Given the description of an element on the screen output the (x, y) to click on. 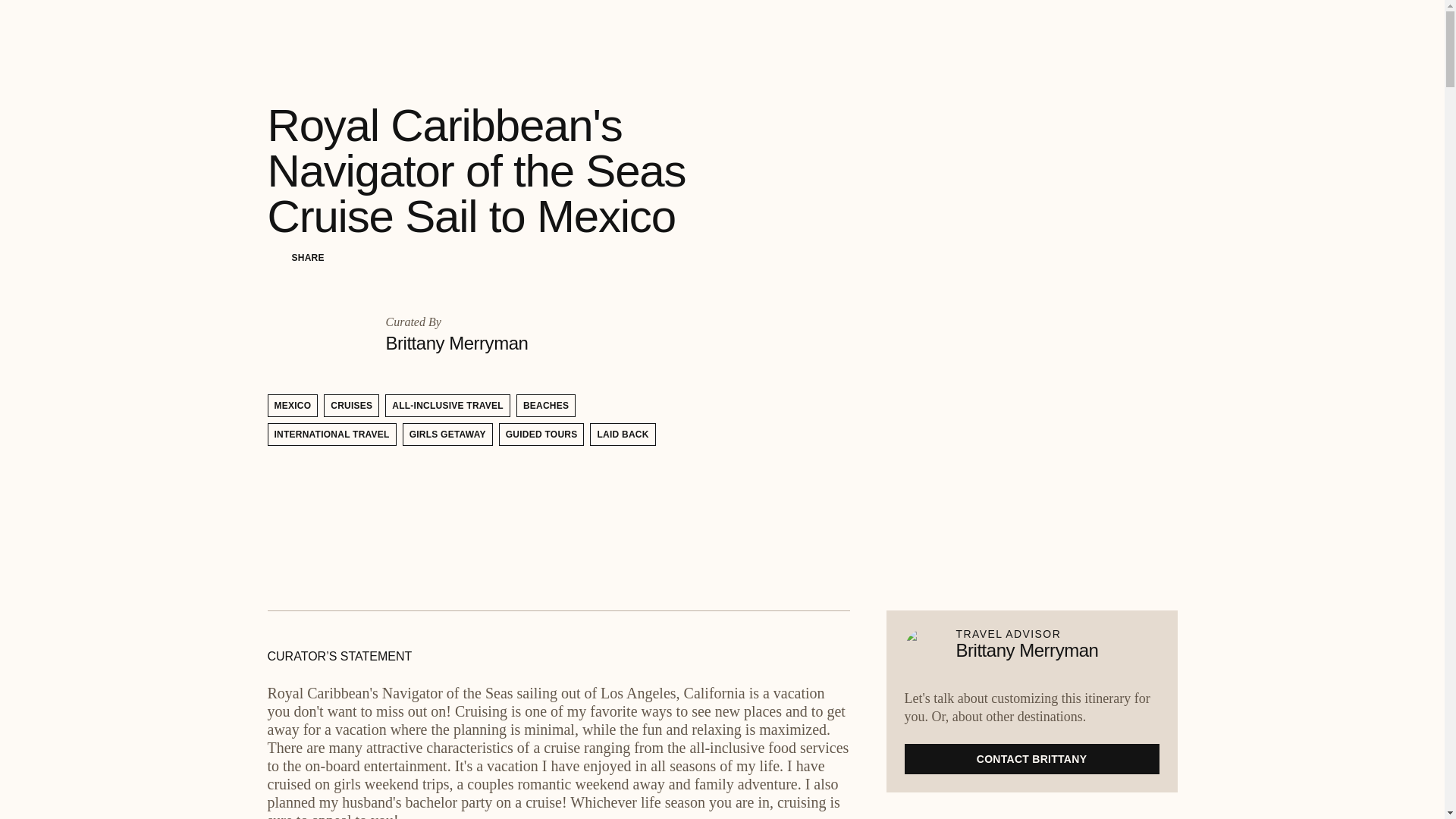
CONTACT BRITTANY (1031, 758)
